Given the description of an element on the screen output the (x, y) to click on. 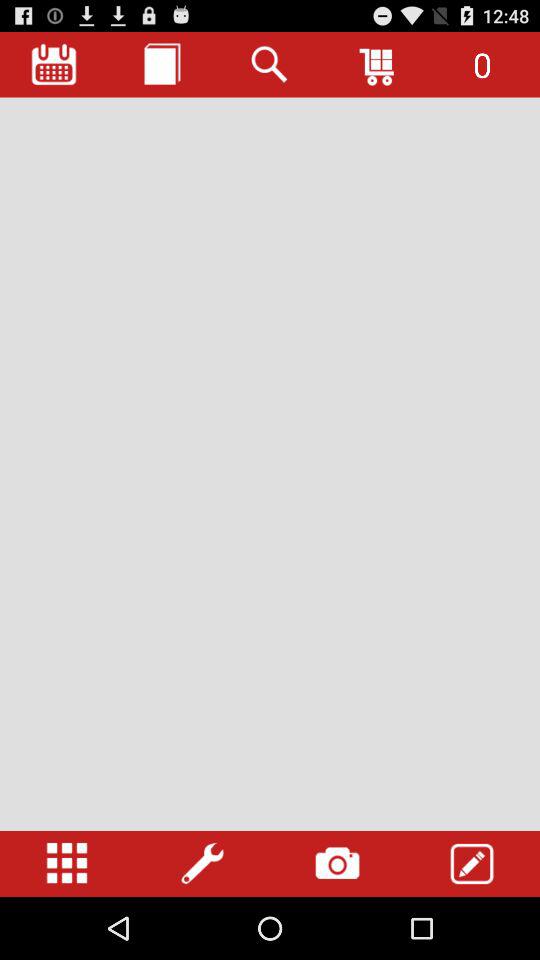
new note (161, 64)
